Given the description of an element on the screen output the (x, y) to click on. 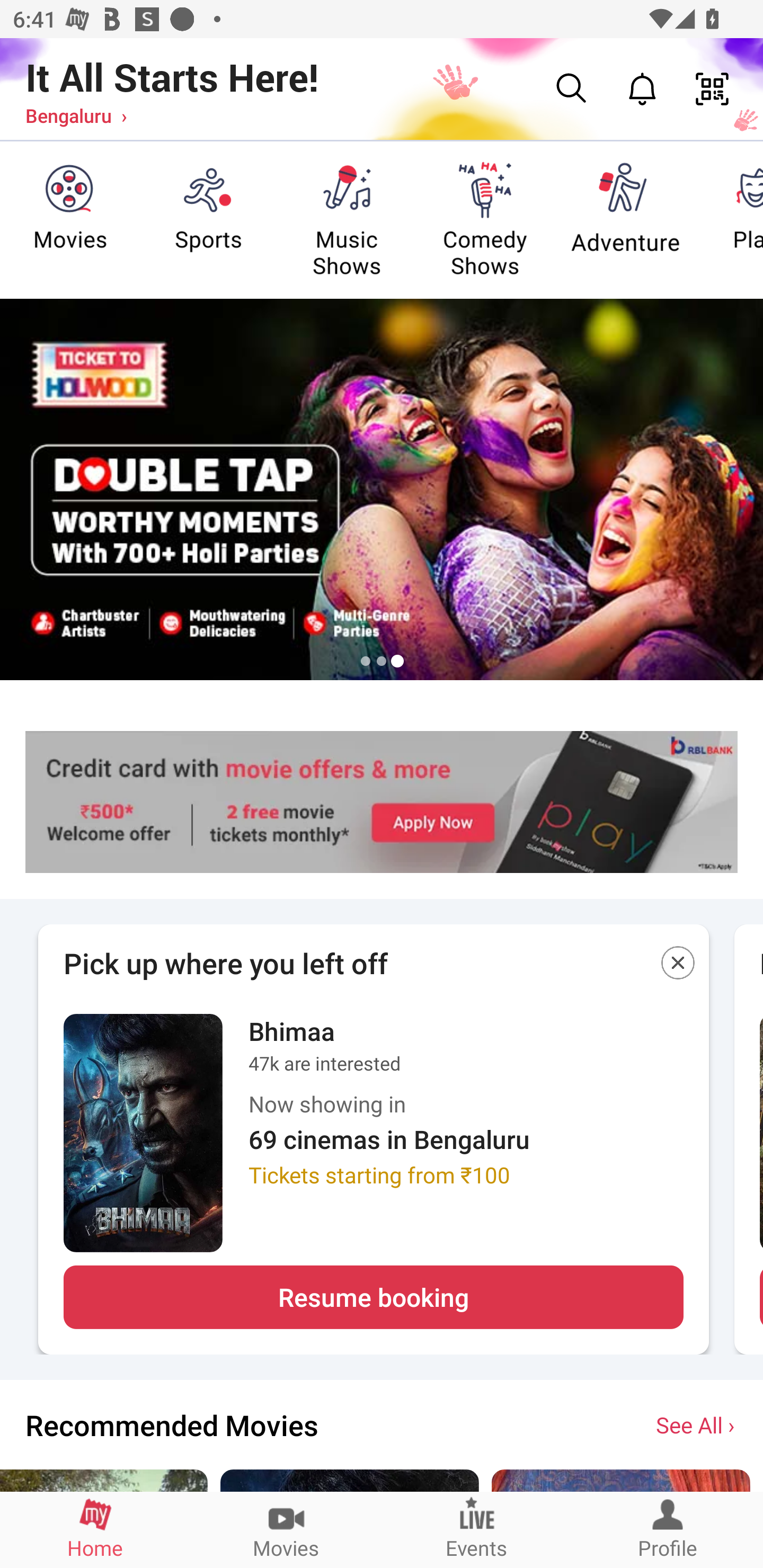
Bengaluru  › (76, 114)
  (678, 966)
Resume booking (373, 1297)
See All › (696, 1424)
Home (95, 1529)
Movies (285, 1529)
Events (476, 1529)
Profile (667, 1529)
